Given the description of an element on the screen output the (x, y) to click on. 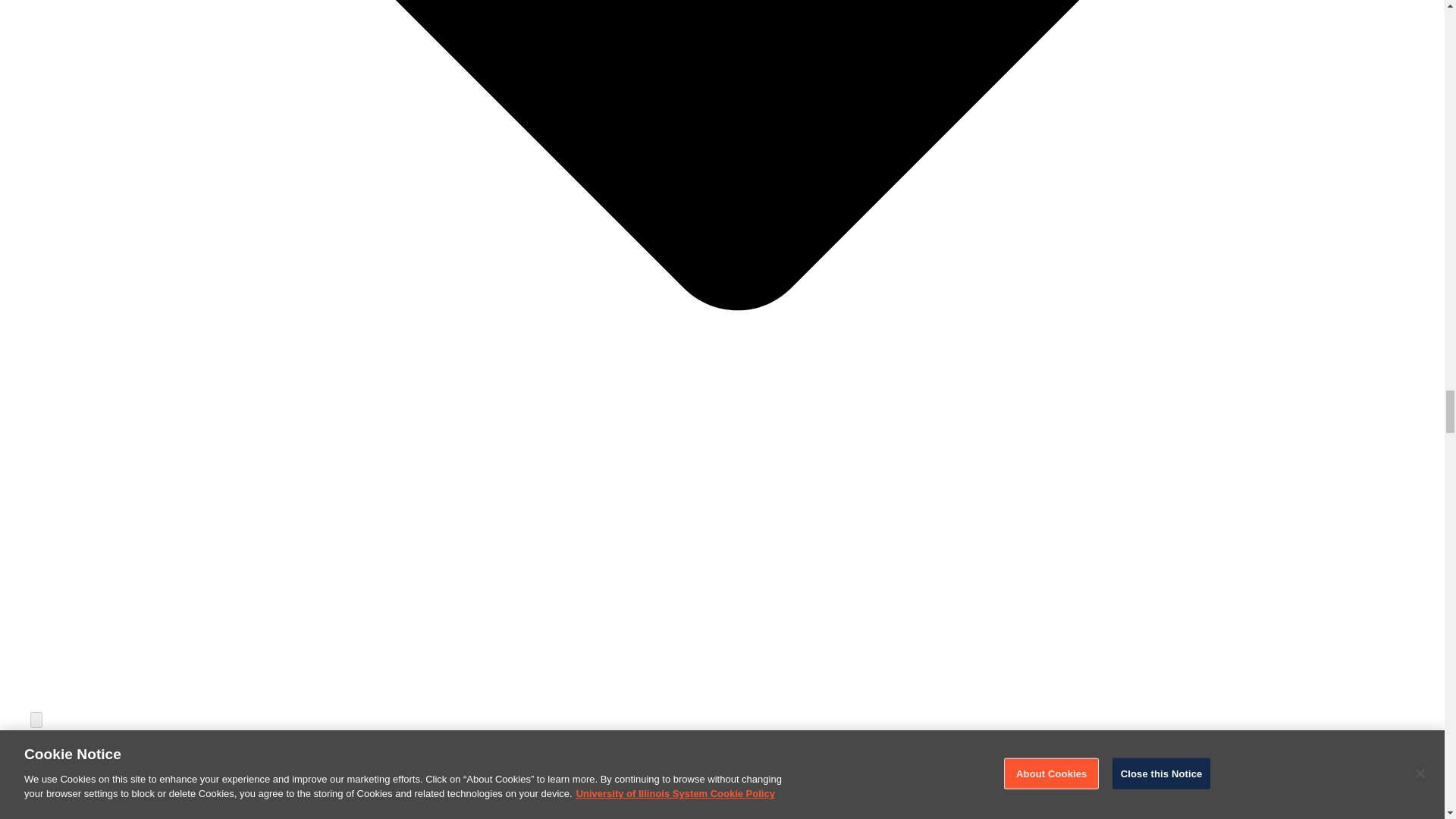
Social Media (125, 815)
Find an Office (125, 793)
Contact Staff (125, 755)
